Given the description of an element on the screen output the (x, y) to click on. 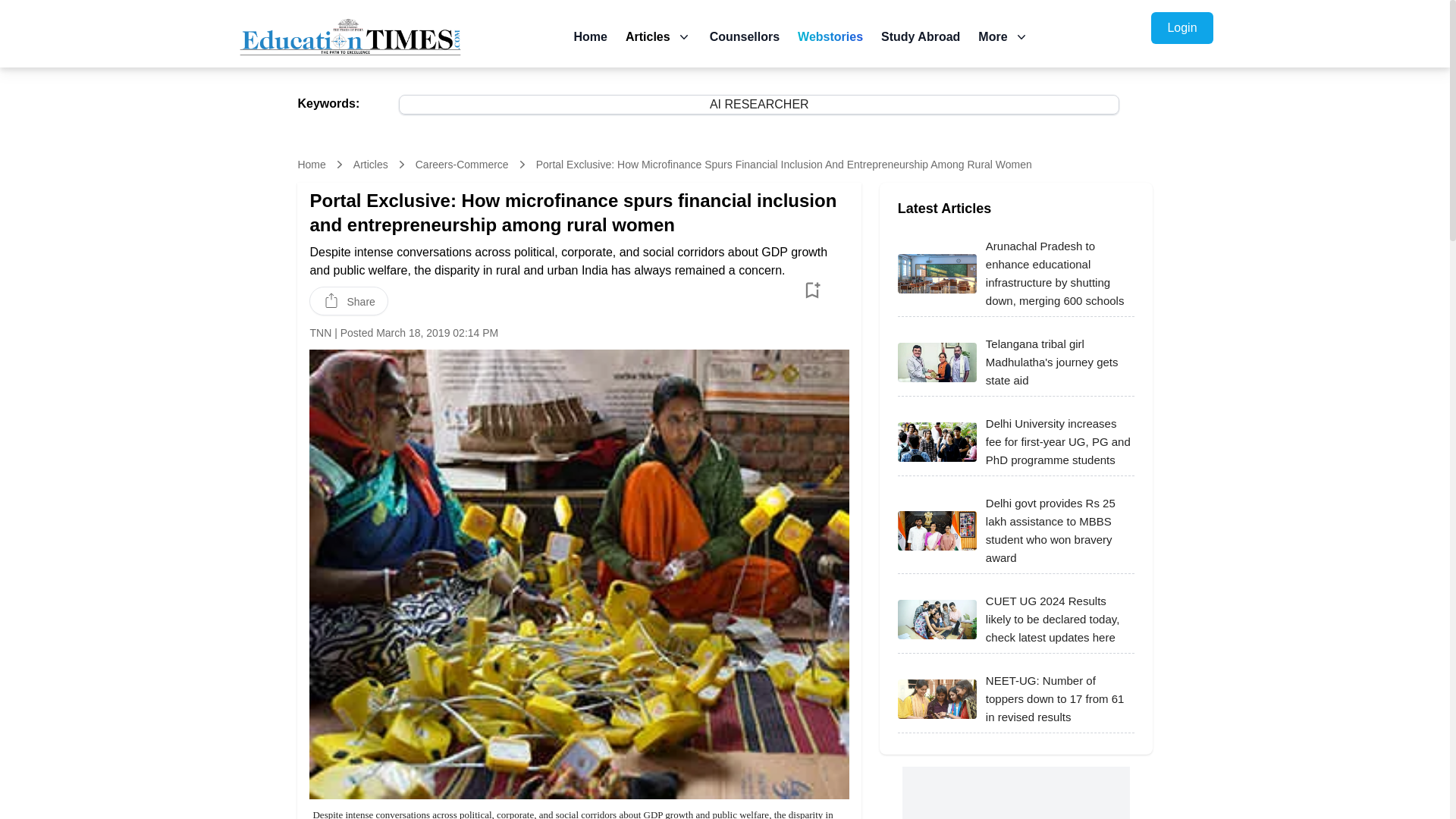
Articles (370, 164)
EducationTimes.com (349, 37)
Counsellors (744, 36)
TNN (319, 332)
Login (310, 164)
Telangana tribal girl Madhulatha's journey gets state aid (1181, 28)
3rd party ad content (937, 362)
AI RESEARCHER (1015, 792)
Latest Articles (759, 104)
